Given the description of an element on the screen output the (x, y) to click on. 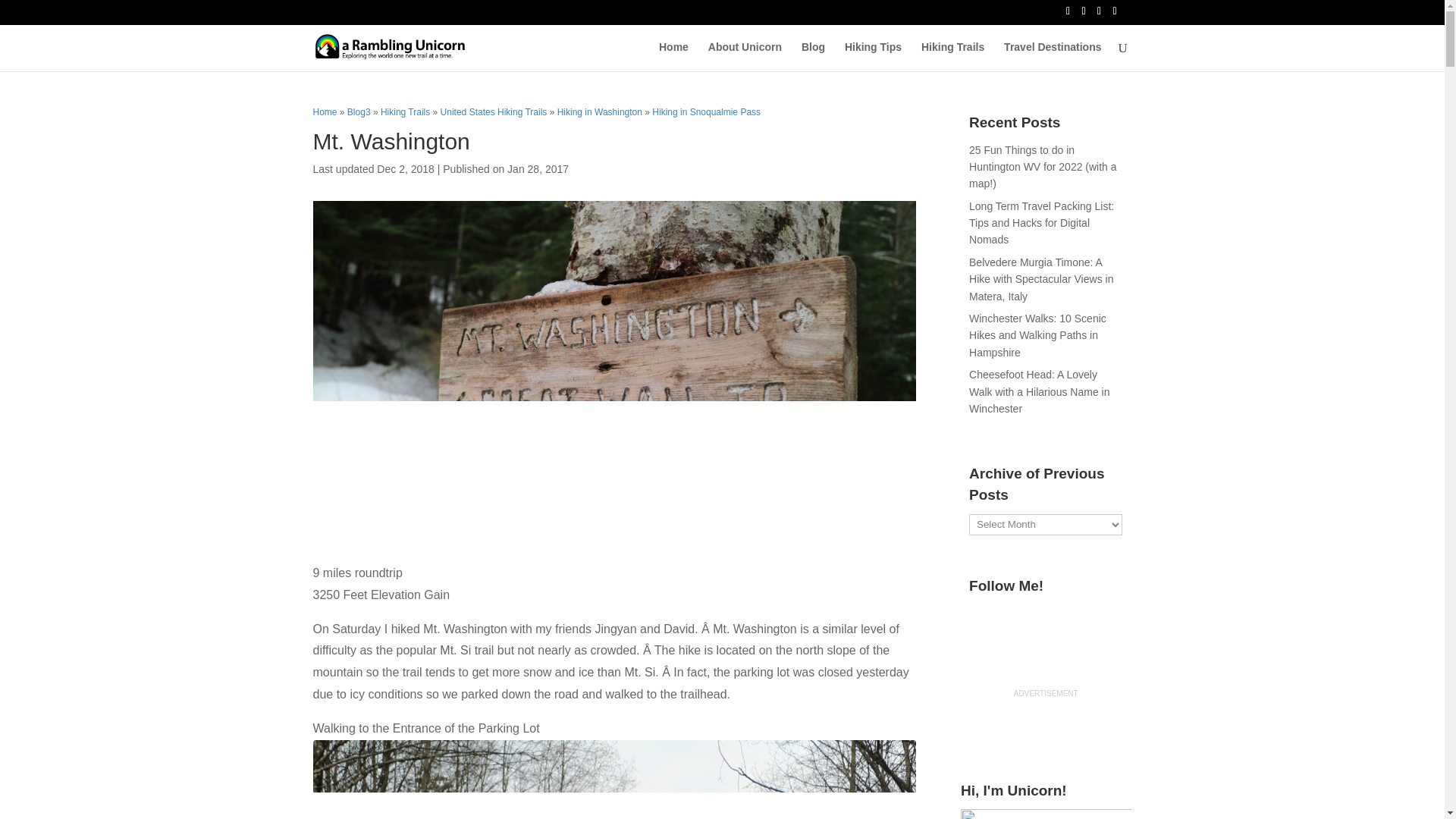
Home (673, 56)
Hiking Tips (872, 56)
Hiking Trails (952, 56)
About Unicorn (744, 56)
